Given the description of an element on the screen output the (x, y) to click on. 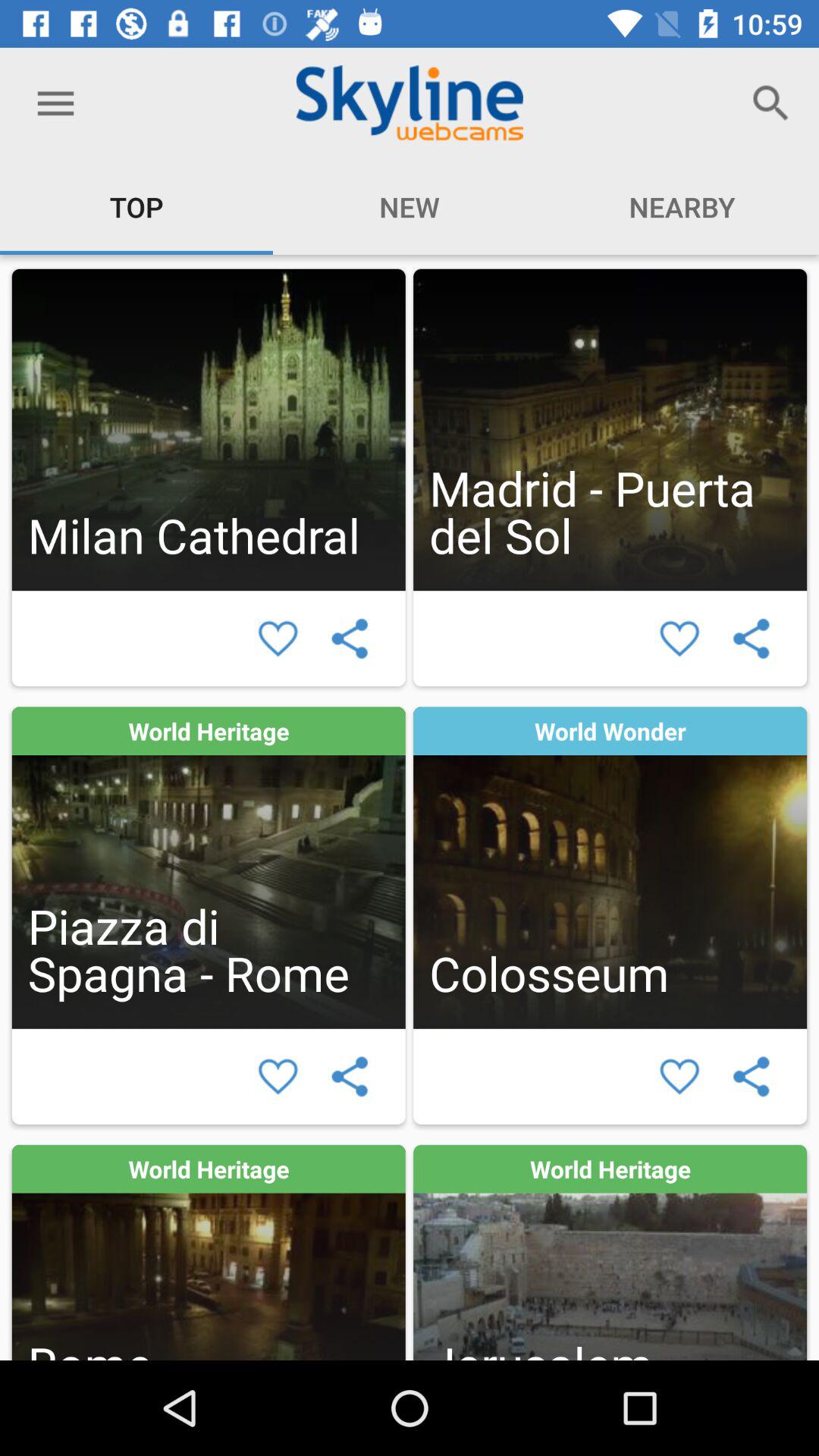
view webcam (208, 429)
